Given the description of an element on the screen output the (x, y) to click on. 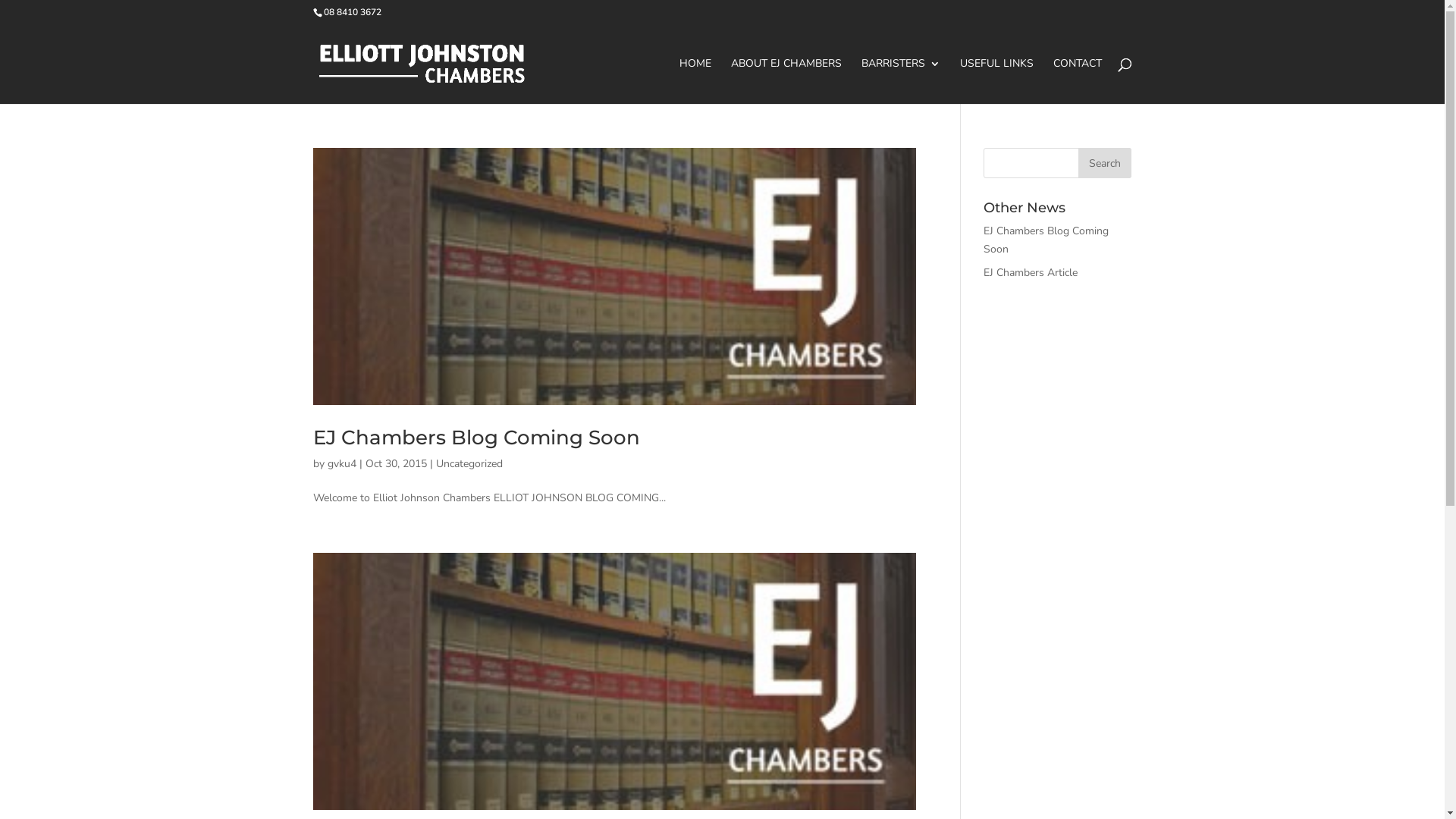
gvku4 Element type: text (341, 463)
USEFUL LINKS Element type: text (996, 80)
EJ Chambers Blog Coming Soon Element type: text (475, 437)
BARRISTERS Element type: text (900, 80)
EJ Chambers Blog Coming Soon Element type: text (1045, 239)
08 8410 3672 Element type: text (351, 12)
Uncategorized Element type: text (468, 463)
Search Element type: text (1104, 162)
CONTACT Element type: text (1076, 80)
ABOUT EJ CHAMBERS Element type: text (786, 80)
EJ Chambers Article Element type: text (1030, 272)
HOME Element type: text (695, 80)
